Given the description of an element on the screen output the (x, y) to click on. 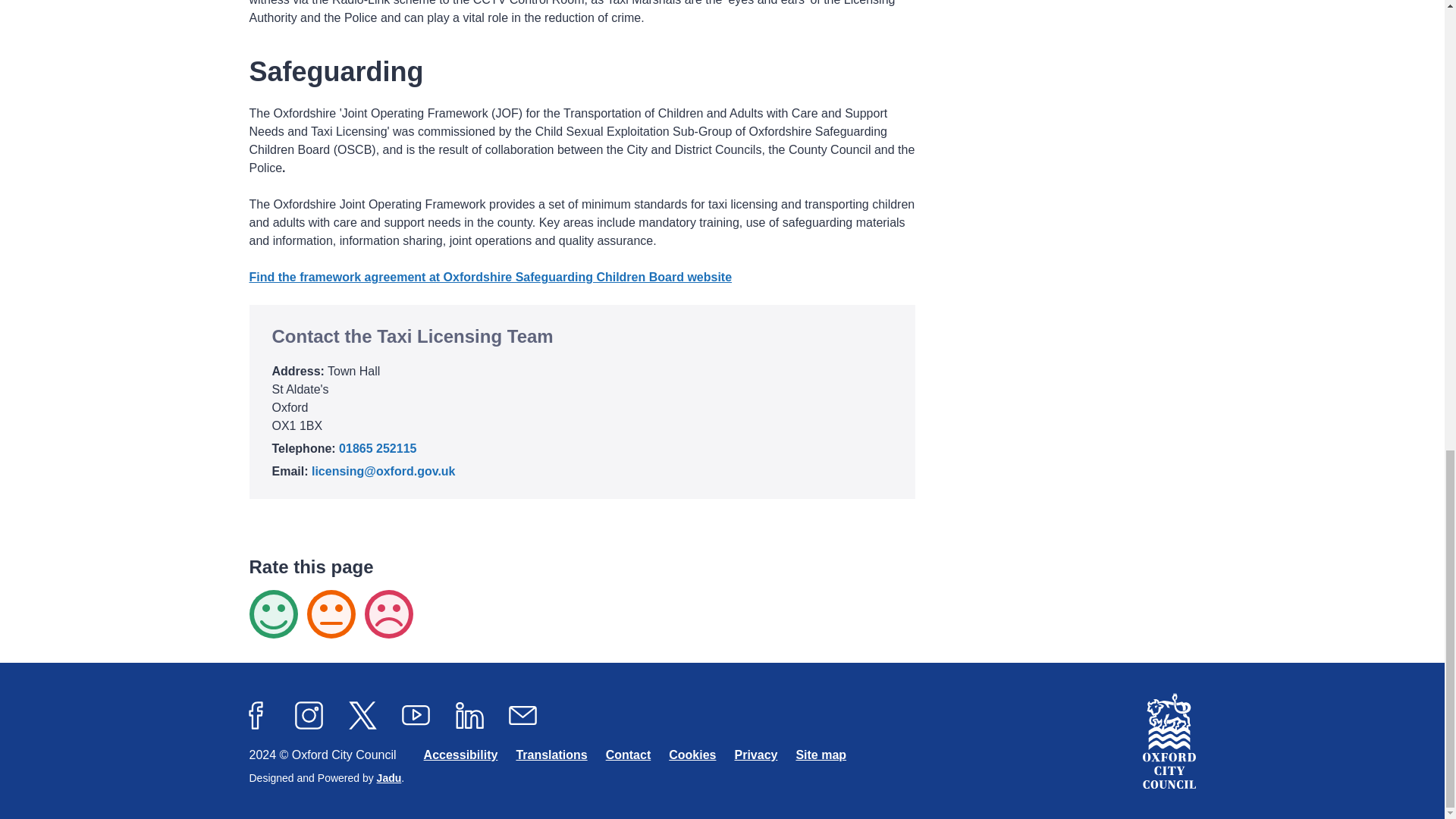
Rate this page as Poor (388, 613)
Rate this page as Good (272, 613)
Rate this page as Average (330, 613)
